Given the description of an element on the screen output the (x, y) to click on. 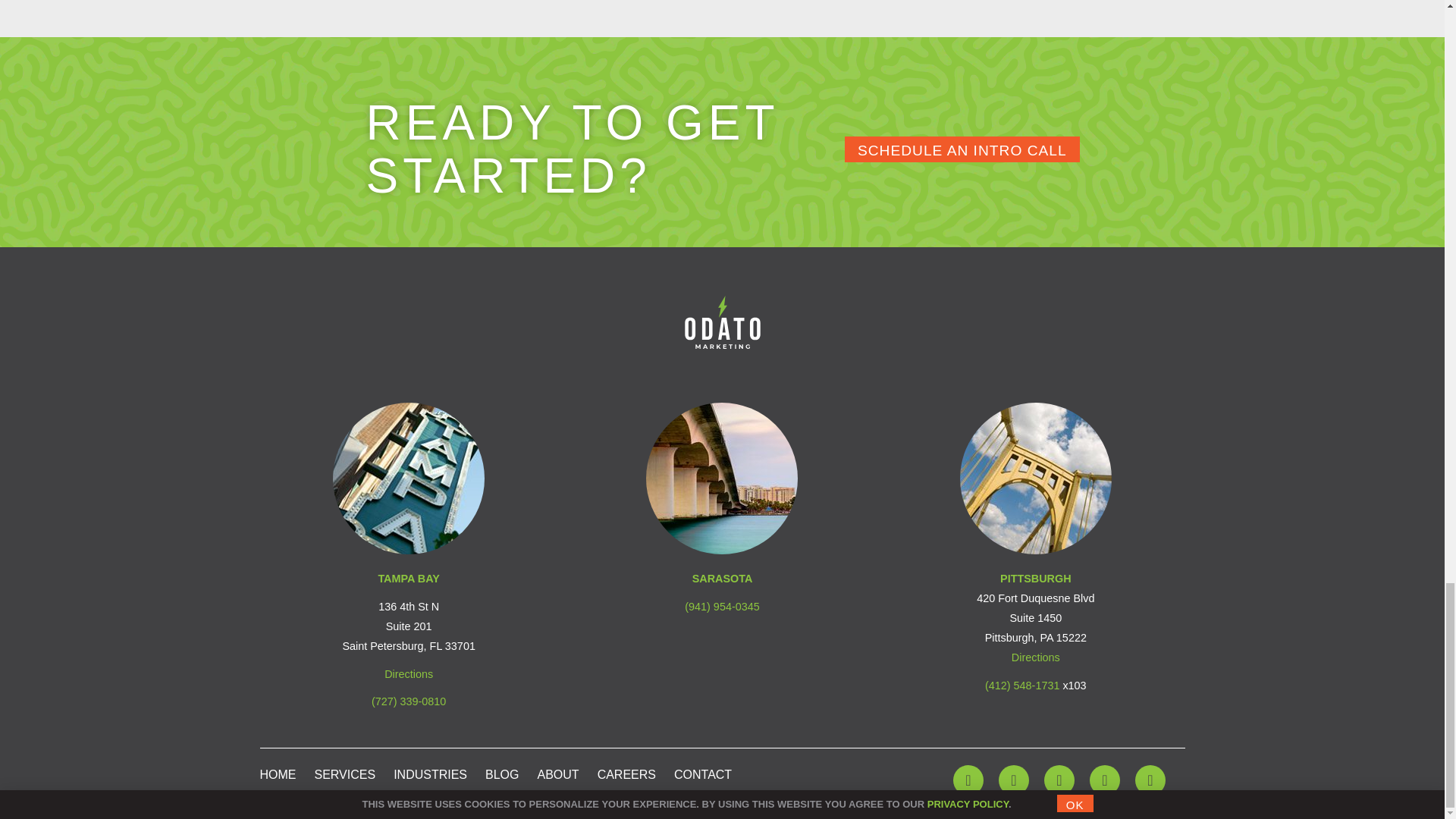
Directions (1035, 657)
sarasota-bridge-thumb (721, 478)
TAMPA BAY (408, 578)
tampa-sign-thumb (408, 478)
PITTSBURGH (1035, 578)
SERVICES (344, 774)
INDUSTRIES (430, 774)
pittsburgh-bridge-thumb (1035, 478)
SARASOTA (722, 578)
HOME (277, 774)
